Given the description of an element on the screen output the (x, y) to click on. 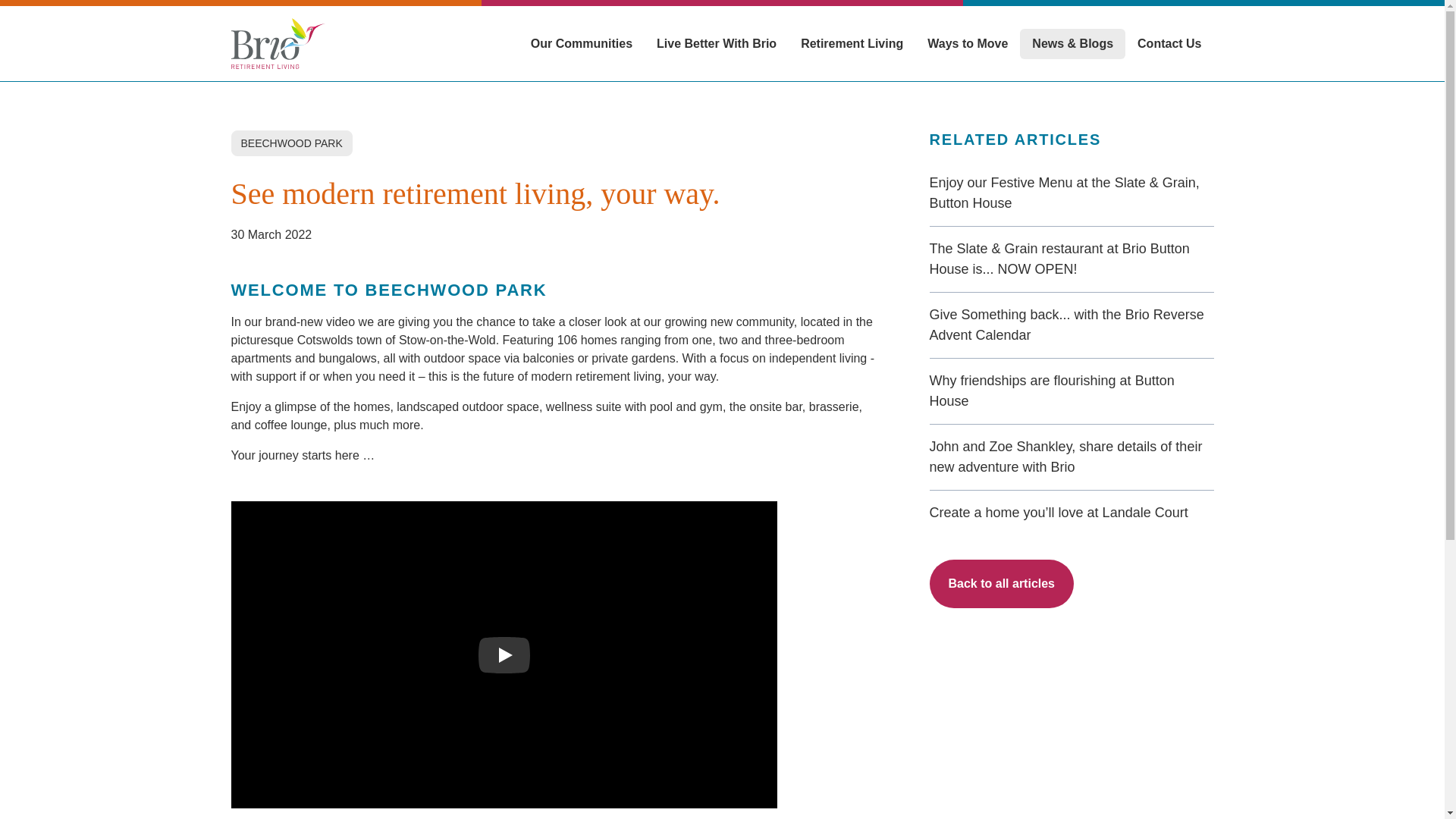
Why friendships are flourishing at Button House (1072, 391)
Give Something back... with the Brio Reverse Advent Calendar (1072, 324)
Back to all articles (1002, 583)
Our Communities (581, 43)
BEECHWOOD PARK (291, 143)
Contact Us (1168, 43)
Retirement Living (852, 43)
Beechwood Park (503, 654)
Live Better With Brio (717, 43)
